Given the description of an element on the screen output the (x, y) to click on. 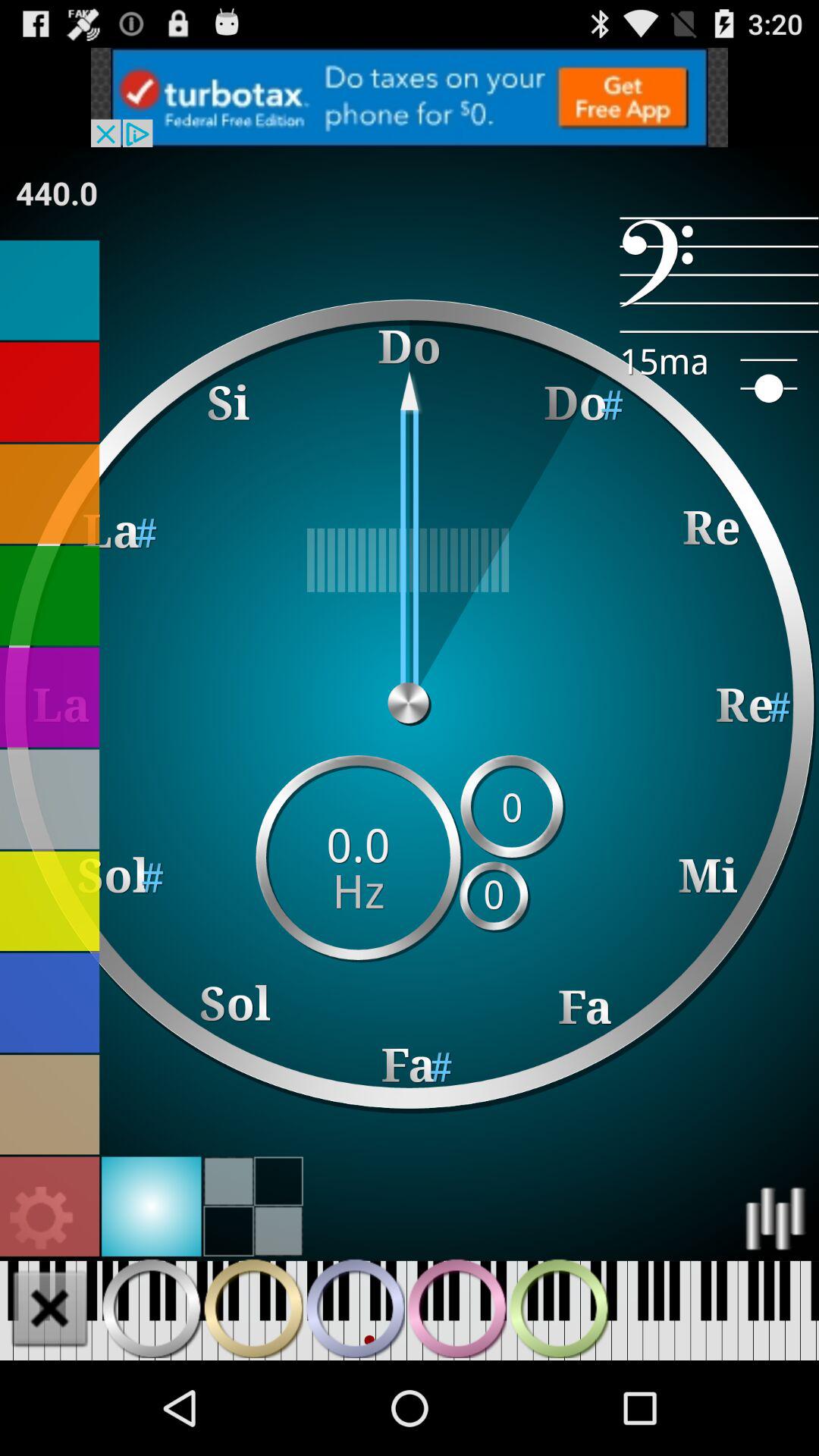
toggle more setting (42, 1218)
